Given the description of an element on the screen output the (x, y) to click on. 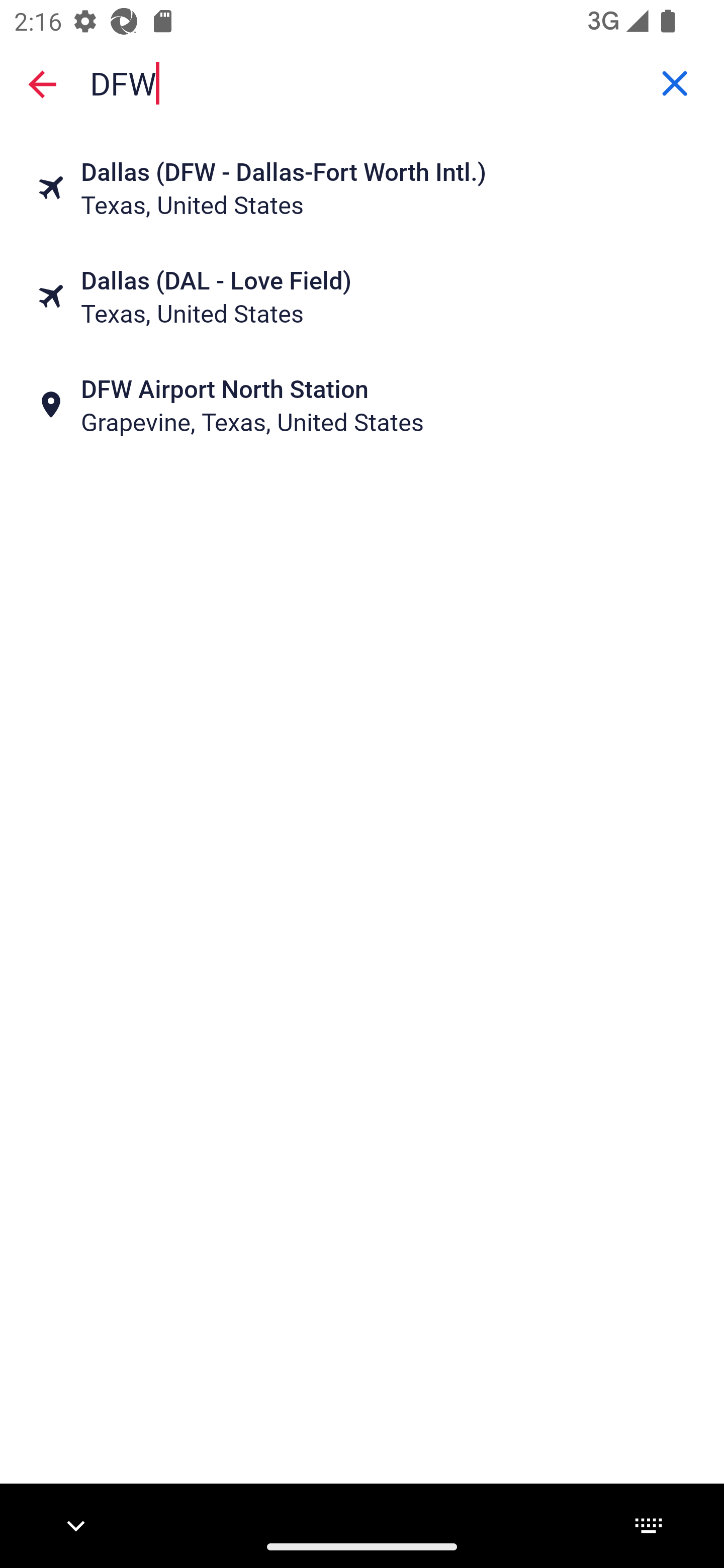
Clear Drop-off (674, 82)
Drop-off, DFW (361, 82)
Close search screen (41, 83)
